Given the description of an element on the screen output the (x, y) to click on. 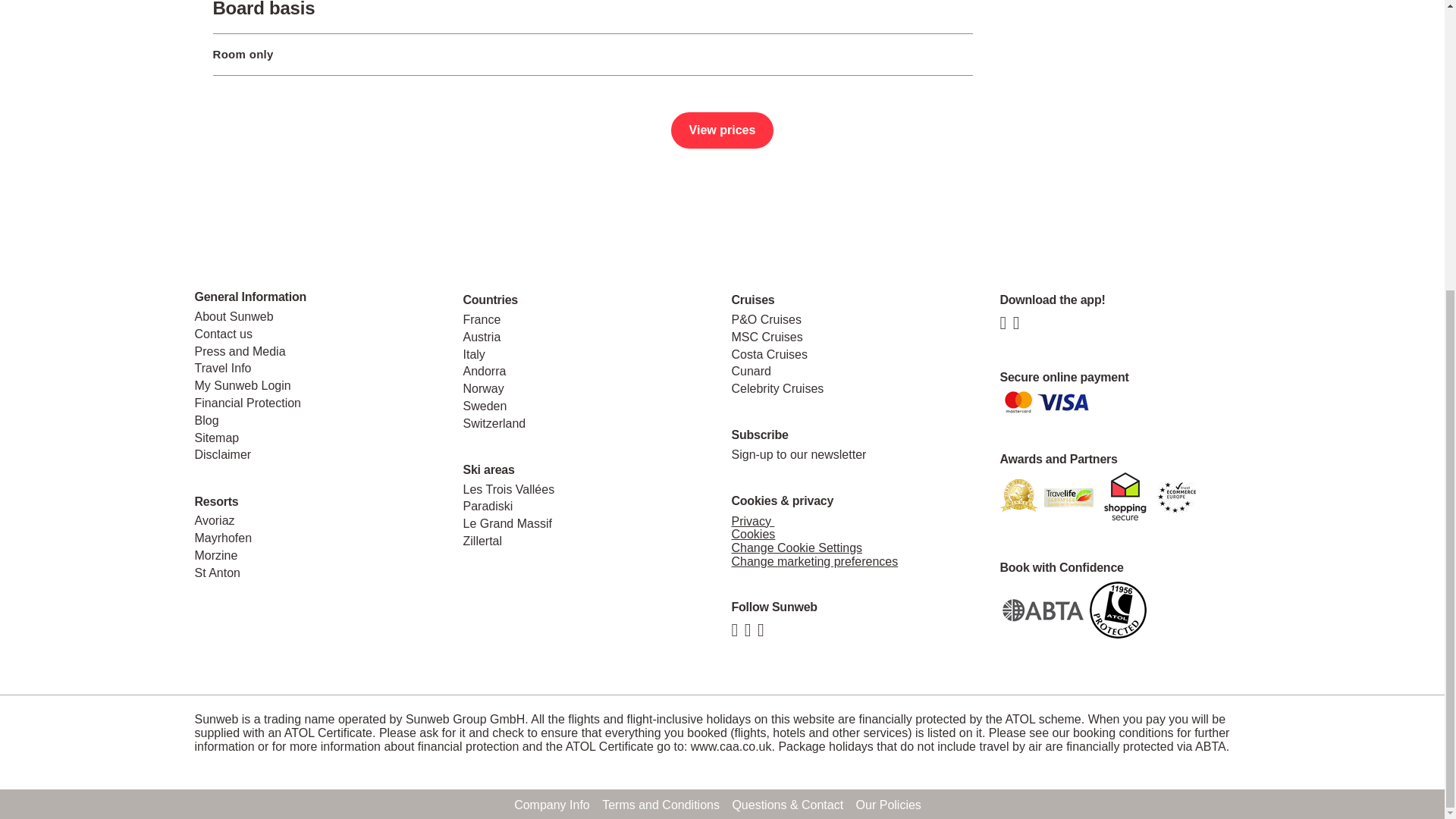
Winner of World's Best Ski Tour Operator (1017, 495)
SGR (1118, 608)
Shopping Secure (1125, 495)
Financial Protection (1040, 608)
Travelife (1068, 495)
Ecommerce Europe (1176, 495)
